Given the description of an element on the screen output the (x, y) to click on. 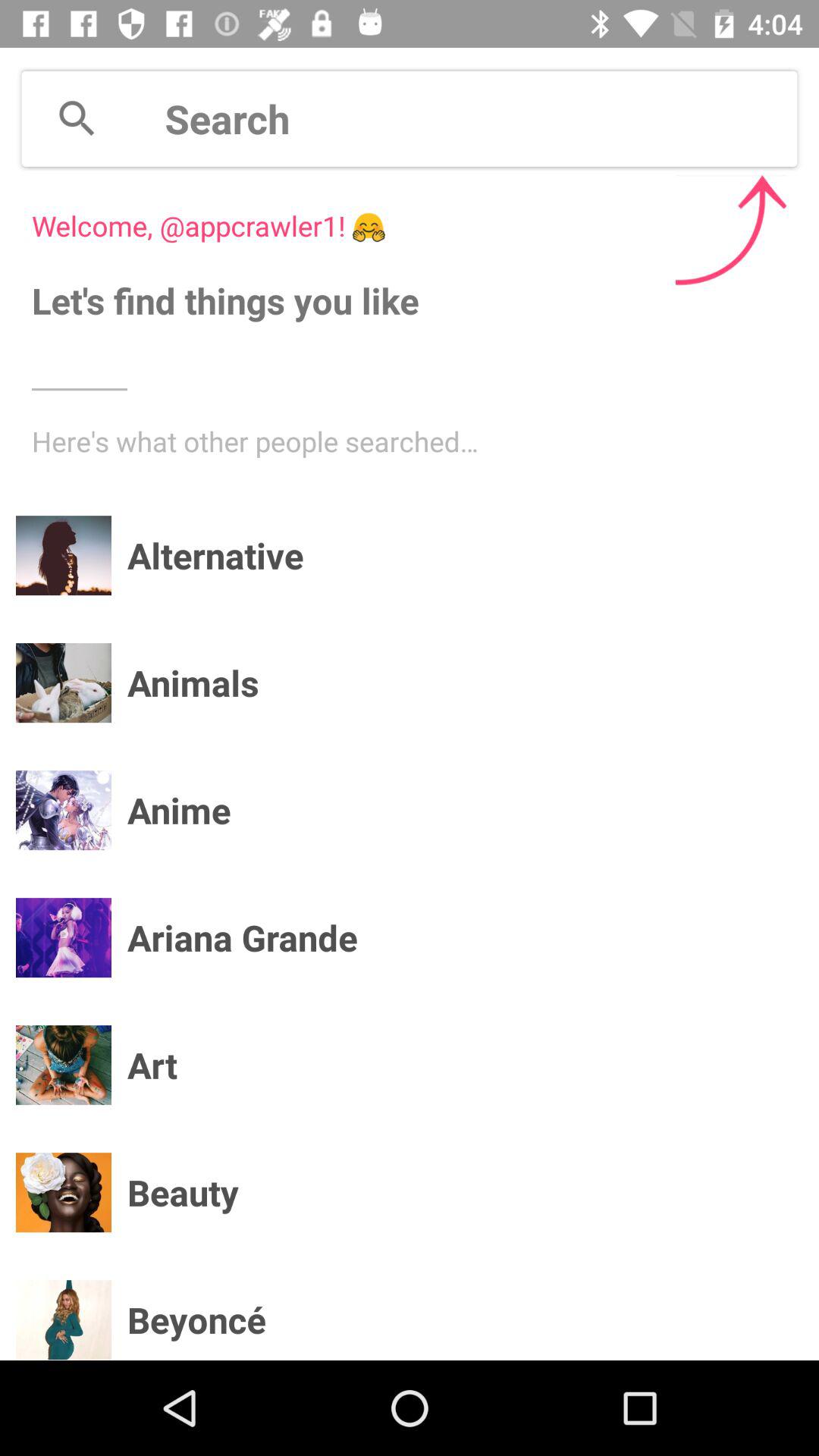
initiate search (480, 118)
